Given the description of an element on the screen output the (x, y) to click on. 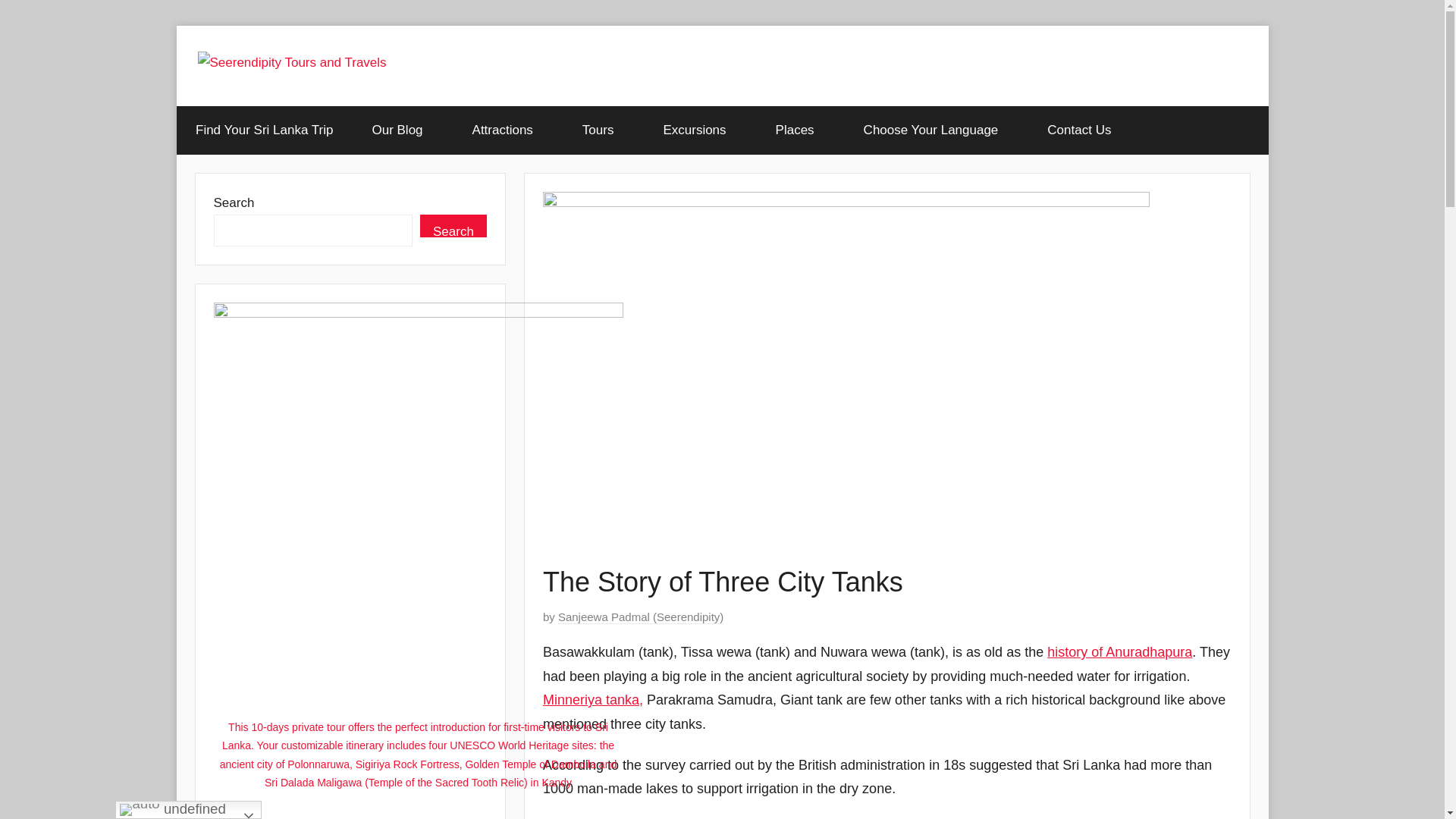
Our Blog (402, 130)
Best of Sri Lanka travel blog (402, 130)
Find Your Sri Lanka Trip (264, 130)
Find Your Sri Lanka Trip (264, 130)
Attractions (507, 130)
Sri Lanka Tours (602, 130)
Excursions (699, 130)
Tours (602, 130)
ATTRACTIONS TO INCLUDE IN SRI LANKA HOLIDAY PACKAGES (507, 130)
